Given the description of an element on the screen output the (x, y) to click on. 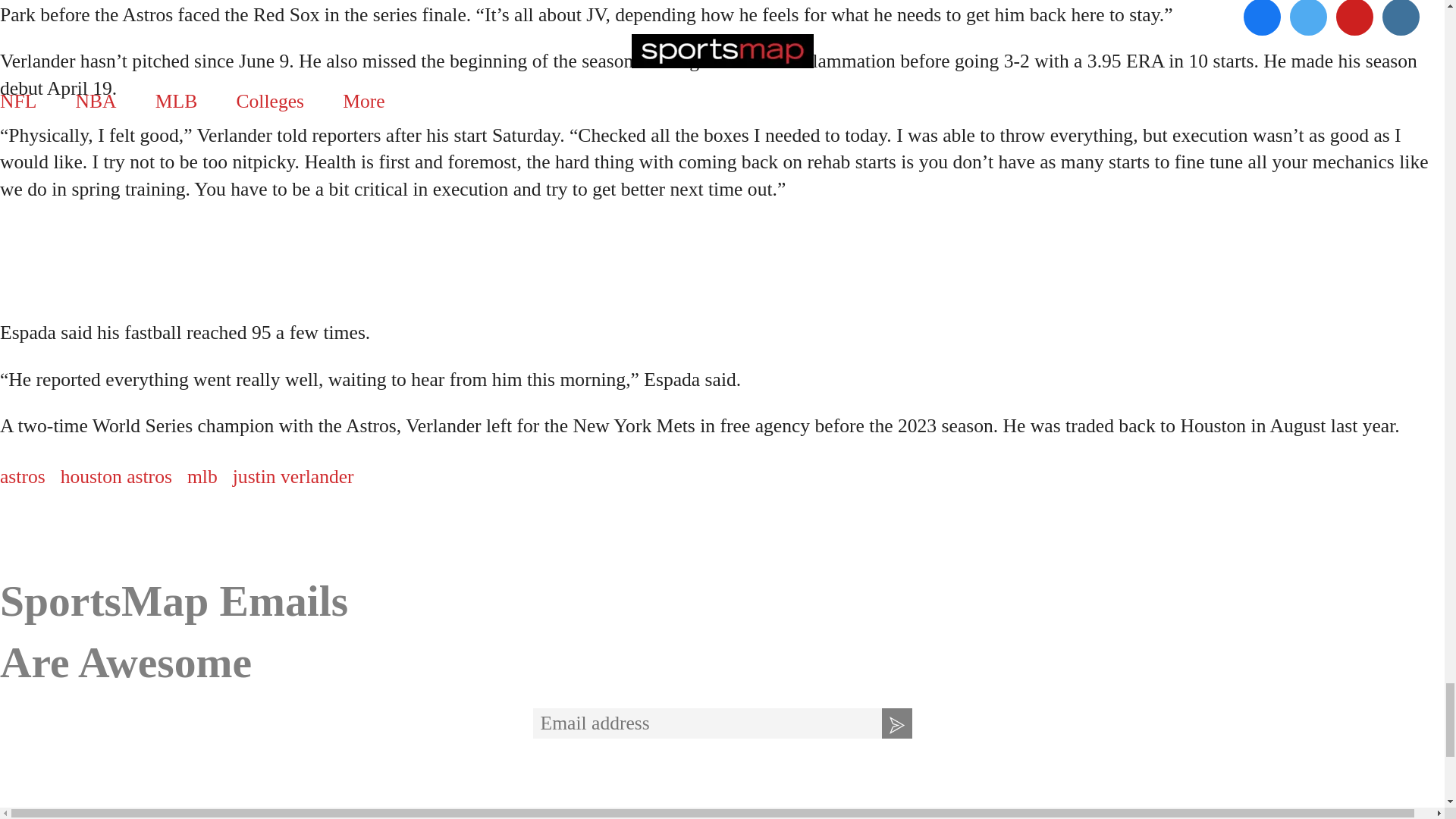
houston astros (116, 476)
astros (22, 476)
